Given the description of an element on the screen output the (x, y) to click on. 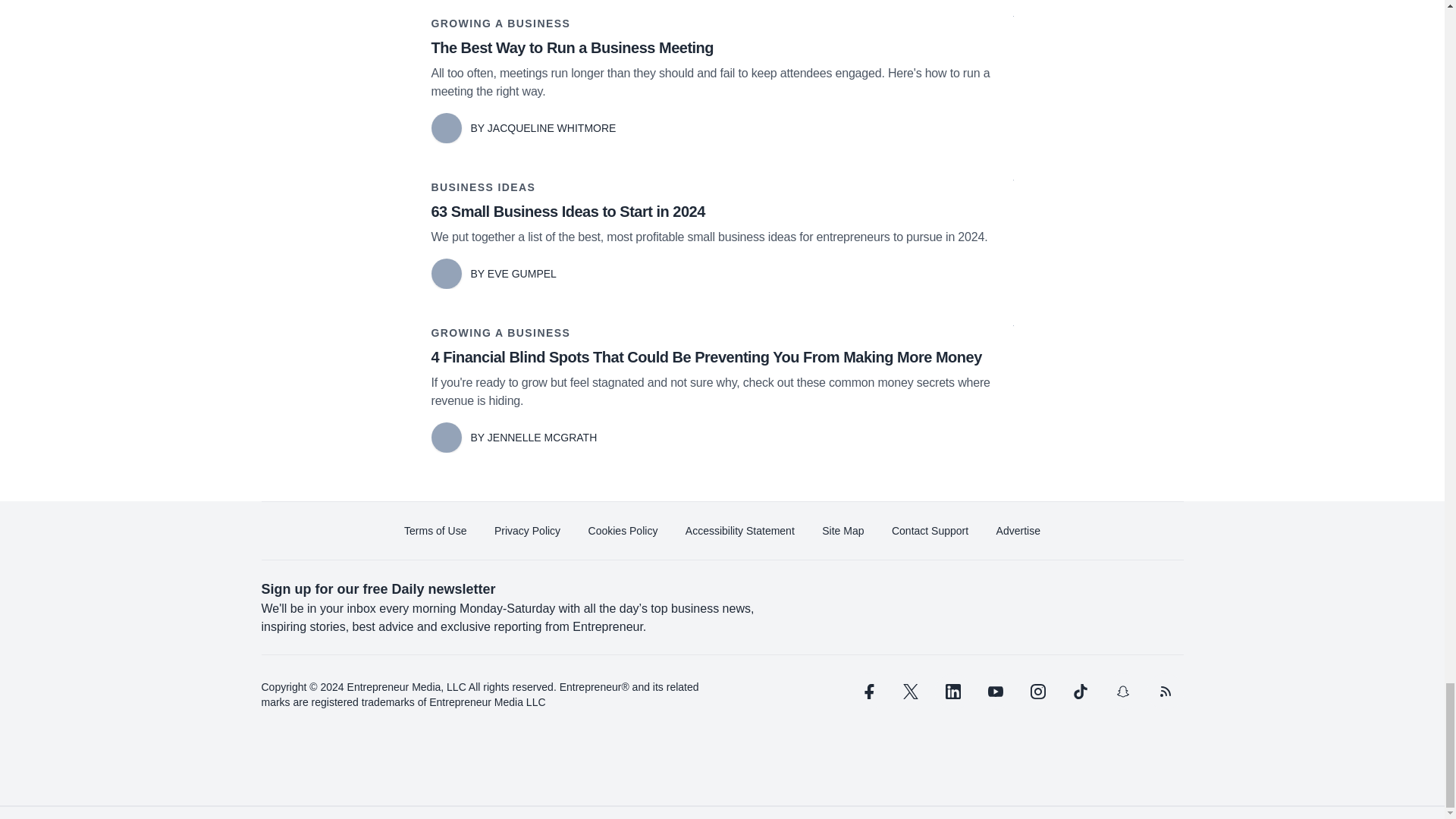
instagram (1037, 691)
tiktok (1079, 691)
linkedin (952, 691)
facebook (866, 691)
snapchat (1121, 691)
youtube (994, 691)
twitter (909, 691)
